Given the description of an element on the screen output the (x, y) to click on. 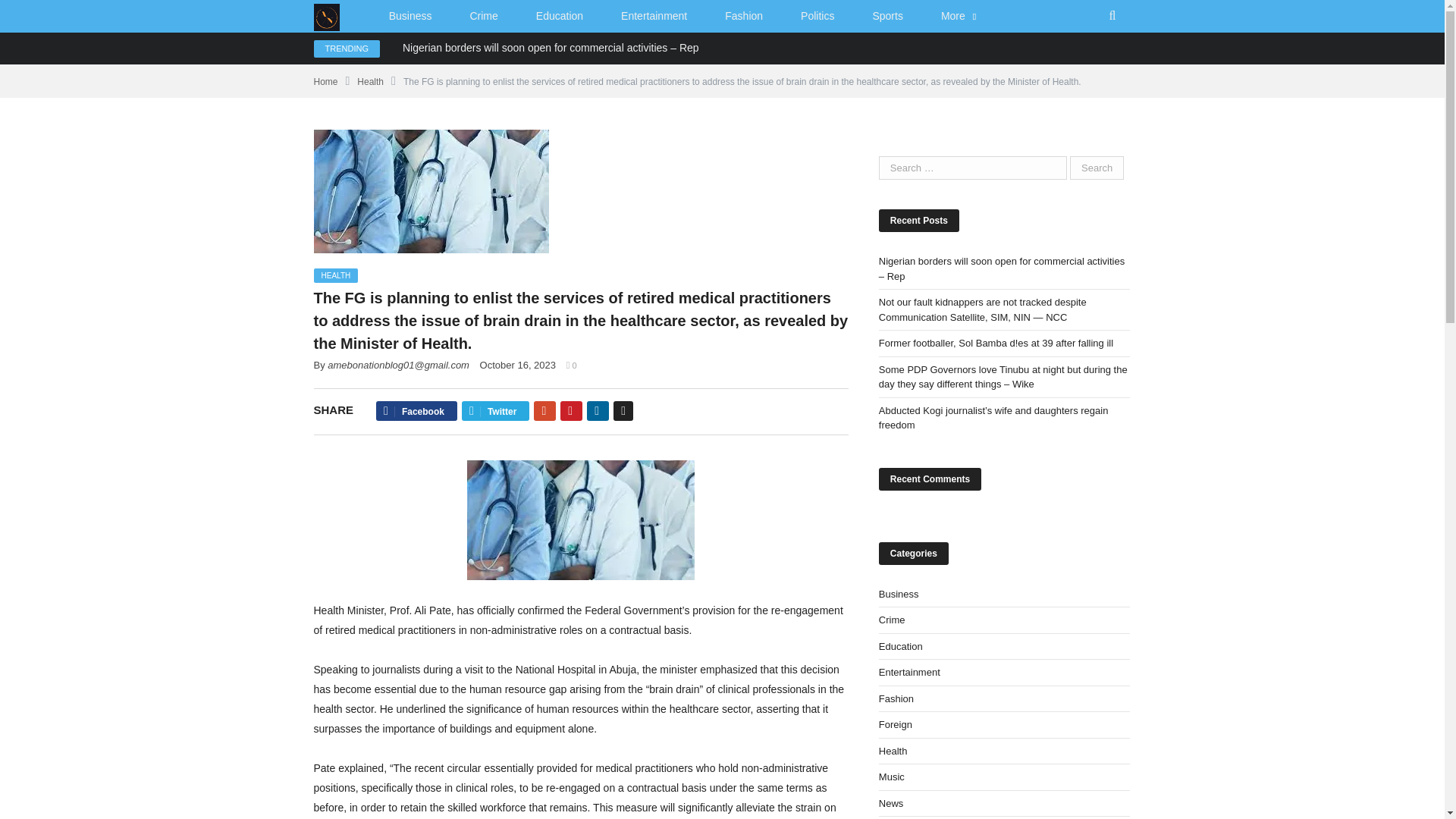
Health (370, 81)
Pinterest (571, 410)
Politics (817, 16)
October 16, 2023 (518, 365)
Email (622, 410)
Facebook (416, 410)
Search (1097, 167)
Crime (482, 16)
HEALTH (336, 275)
